Given the description of an element on the screen output the (x, y) to click on. 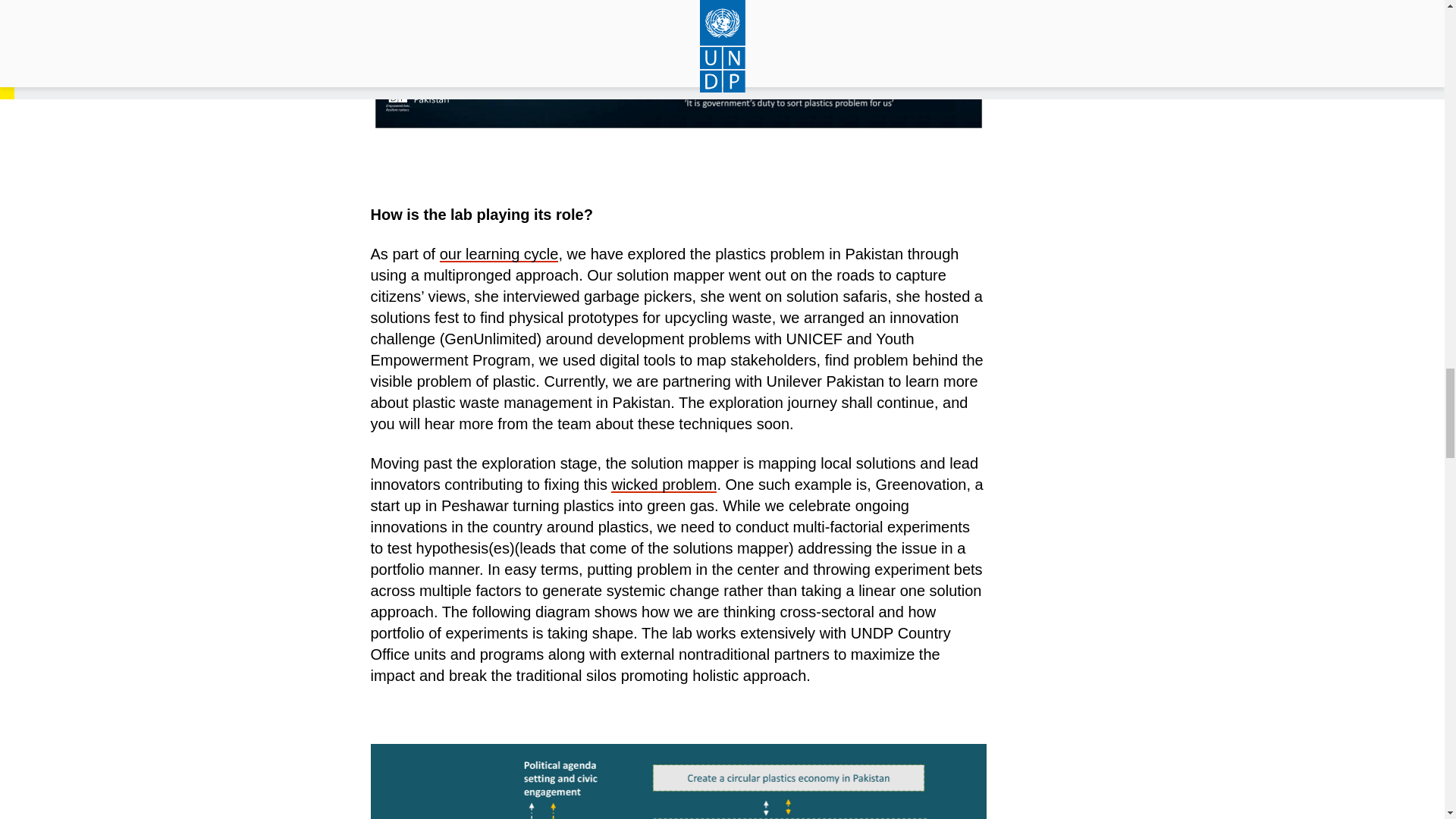
wicked problem (663, 484)
our learning cycle (499, 253)
